Given the description of an element on the screen output the (x, y) to click on. 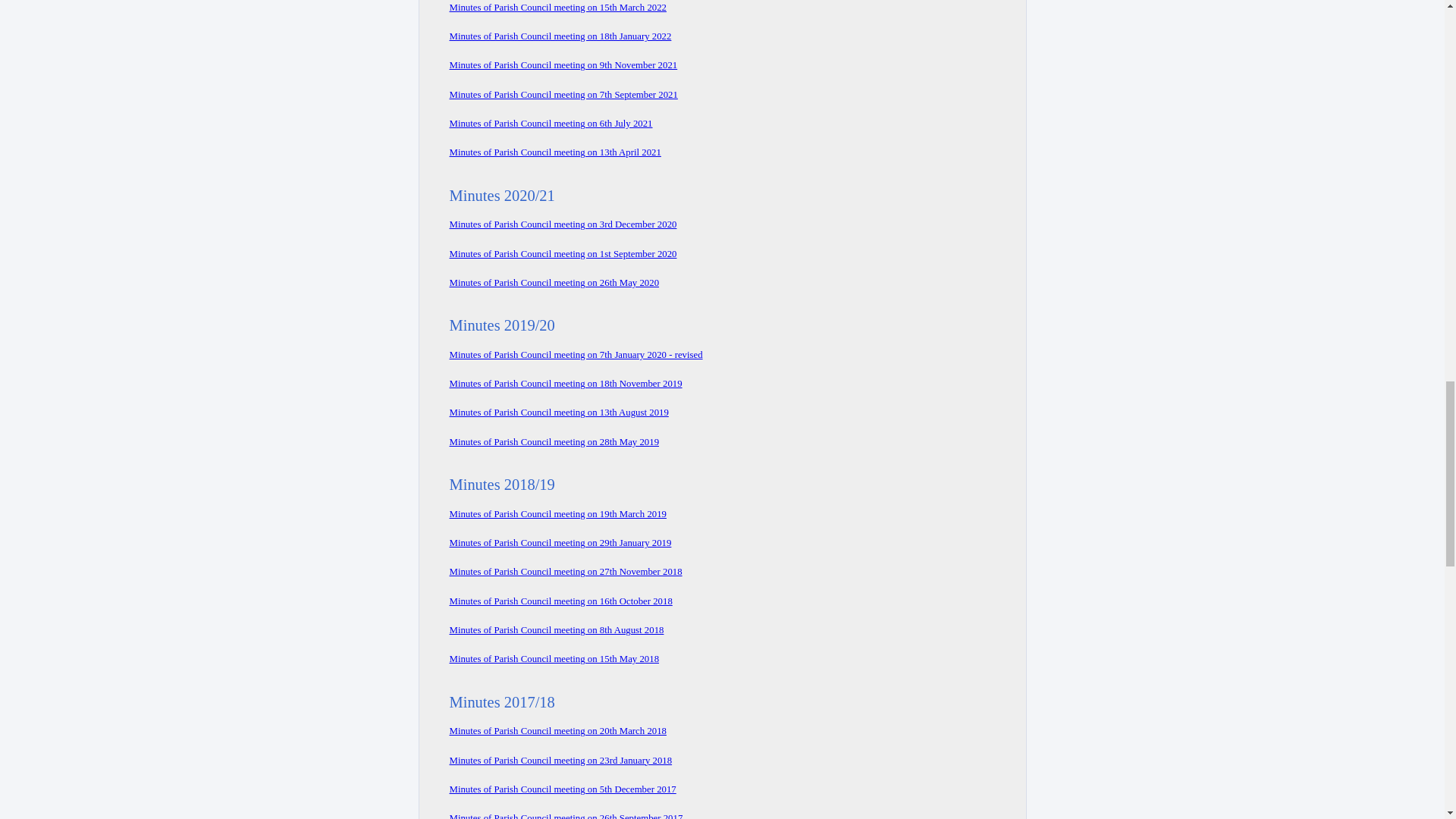
Minutes of Parish Council meeting on 9th November 2021 (562, 64)
Minutes of Parish Council meeting on 7th September 2021 (562, 94)
Minutes of Parish Council meeting on 1st September 2020 (562, 253)
Minutes of Parish Council meeting on 15th March 2022 (556, 7)
Minutes of Parish Council meeting on 26th May 2020 (553, 282)
Minutes of Parish Council meeting on 6th July 2021 (550, 122)
Minutes of Parish Council meeting on 18th January 2022 (559, 36)
Minutes of Parish Council meeting on 13th April 2021 (554, 152)
Minutes of Parish Council meeting on 3rd December 2020 (562, 224)
